Given the description of an element on the screen output the (x, y) to click on. 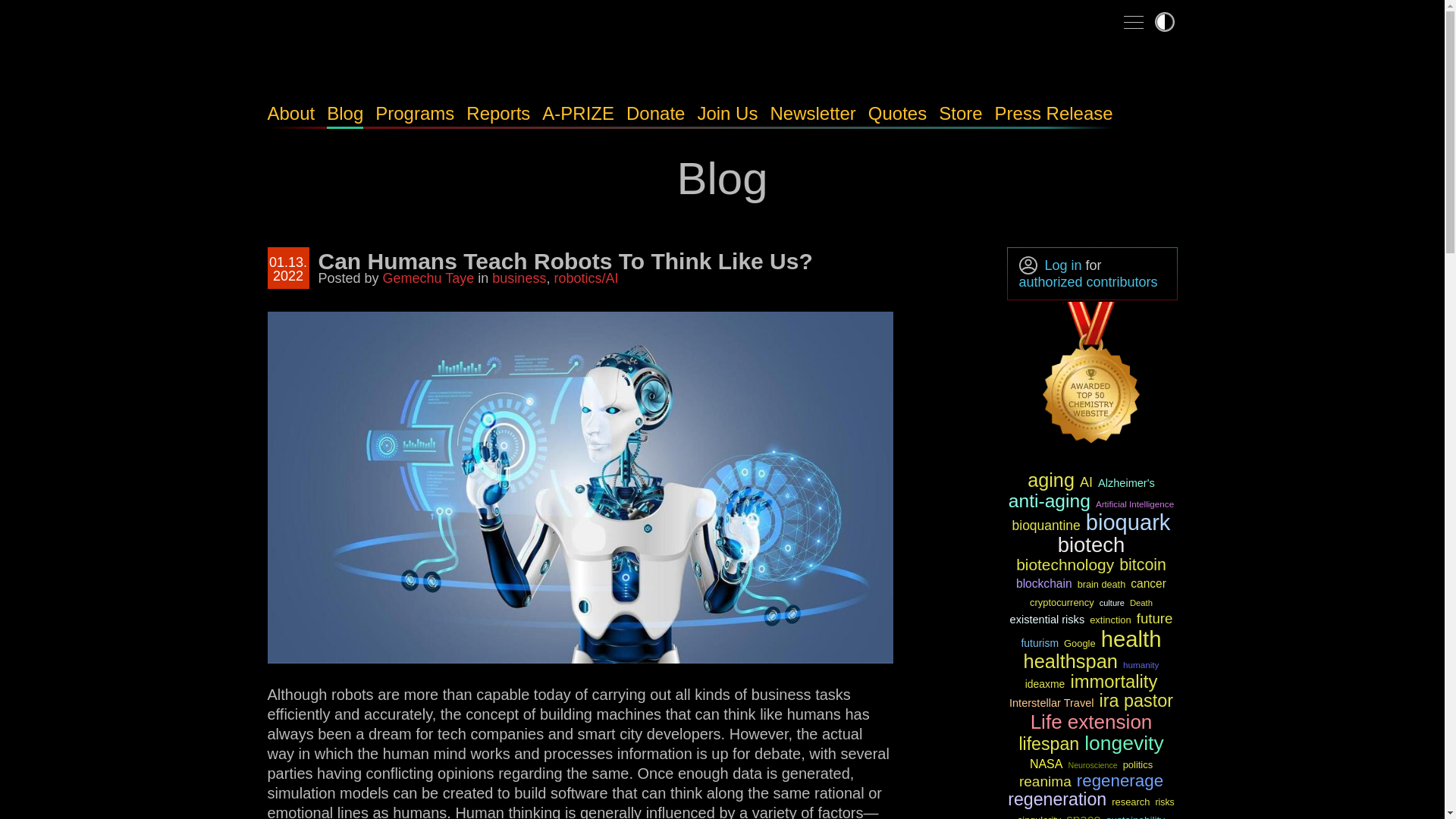
Reports (497, 113)
Quotes (896, 113)
Join Us (727, 113)
Chemistry Websites (1092, 374)
Donate (655, 113)
Blog (344, 113)
About (290, 113)
A-PRIZE (577, 113)
Lifeboat Foundation: Safeguarding Humanity (395, 62)
Store (960, 113)
Press Release (1053, 113)
Programs (414, 113)
Newsletter (813, 113)
